Given the description of an element on the screen output the (x, y) to click on. 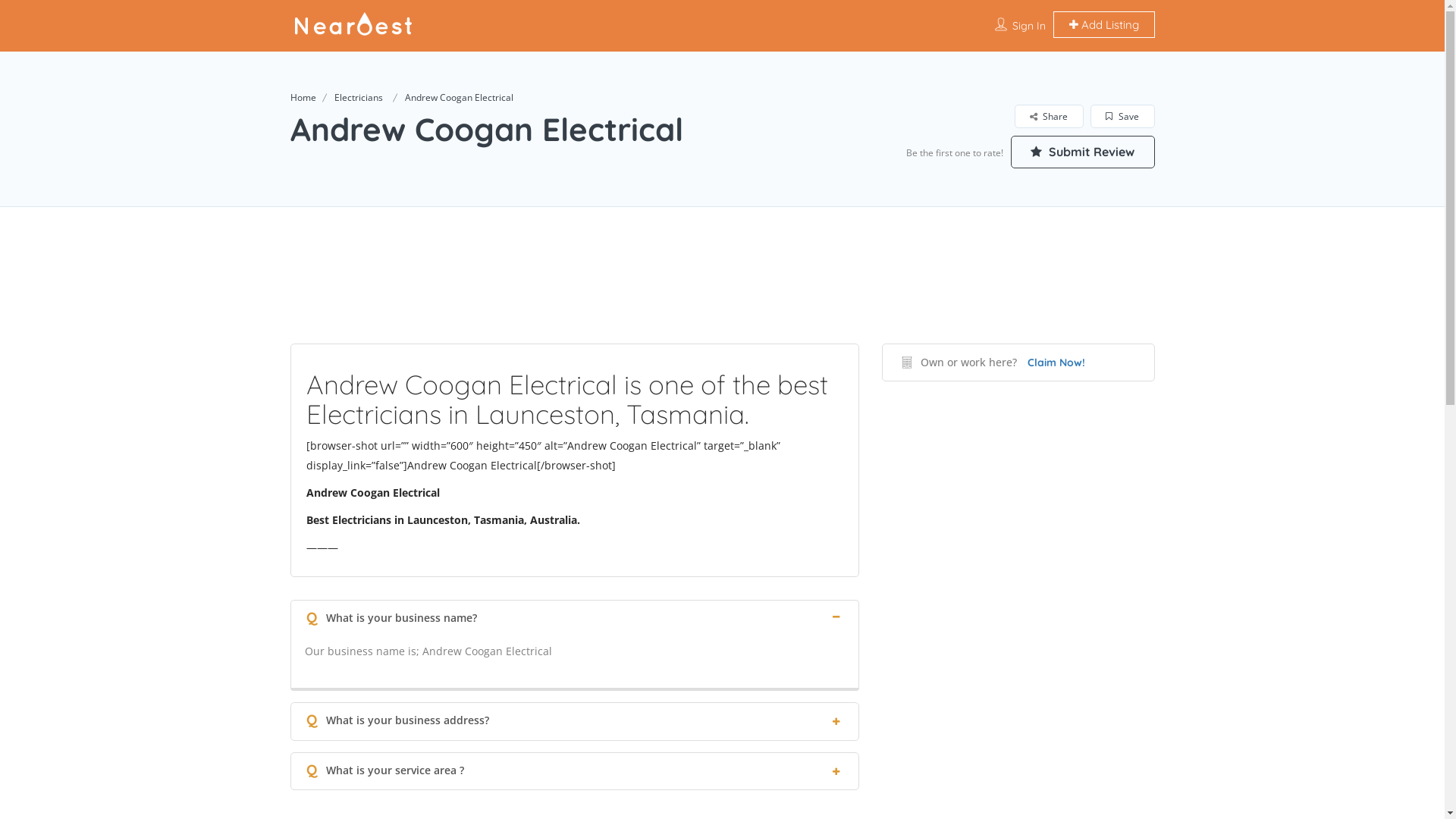
Claim your business now! Element type: text (583, 583)
CHOOSE PLAN Element type: text (721, 596)
Sign In Element type: text (1027, 25)
Submit Element type: text (414, 502)
Add Listing Element type: text (1103, 24)
Home Element type: text (302, 97)
CHOOSE PLAN Element type: text (276, 17)
Electricians Element type: text (357, 97)
Submit Review Element type: text (1082, 151)
Claim Now! Element type: text (1055, 362)
Share Element type: text (1047, 116)
Save Element type: text (1120, 116)
Advertisement Element type: hover (721, 293)
